Given the description of an element on the screen output the (x, y) to click on. 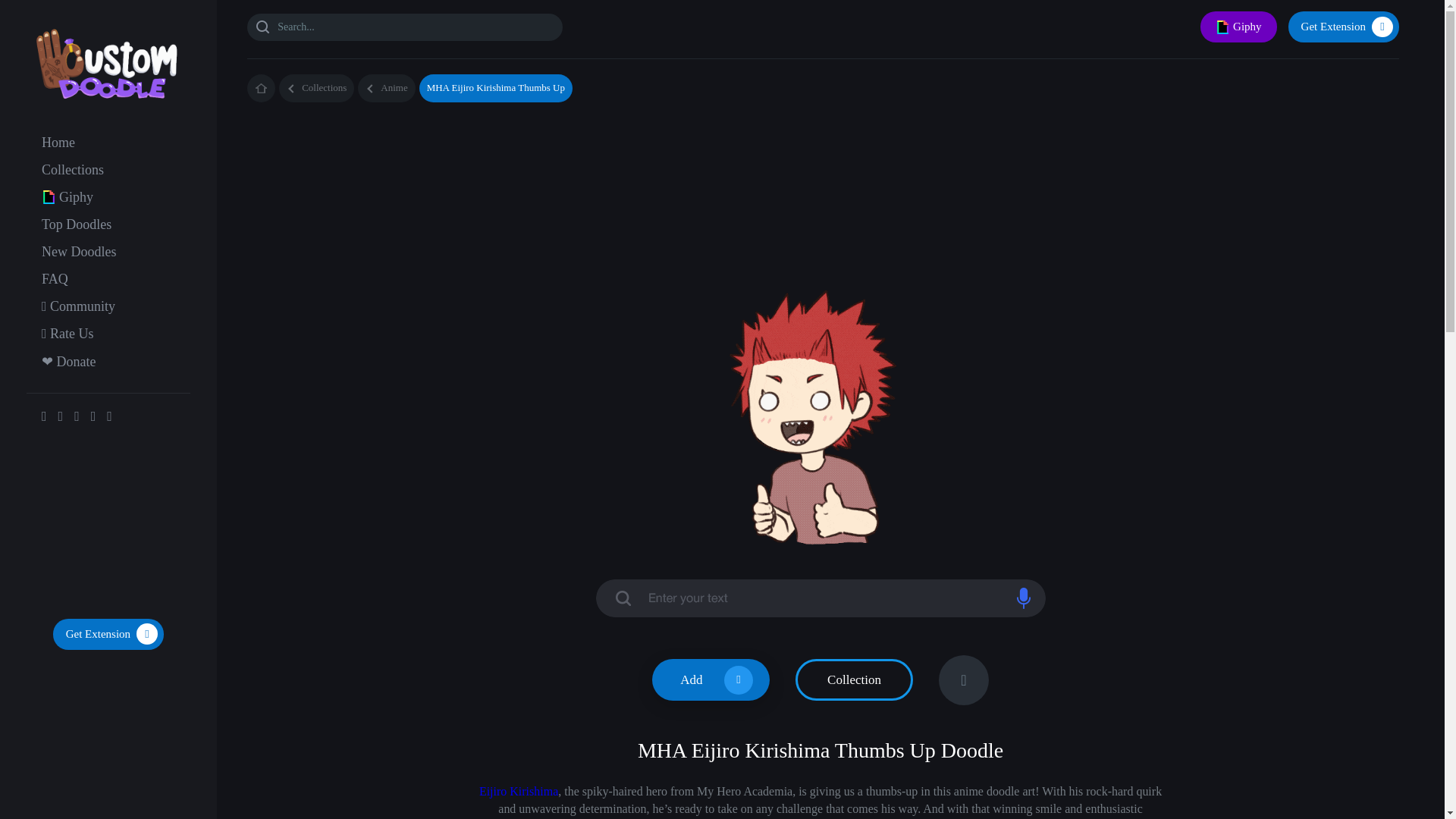
Giphy (76, 197)
New Doodles (79, 251)
Collections (316, 88)
Get Extension (1343, 26)
Advertisement (830, 151)
Collections (72, 169)
Giphy (1237, 26)
Get Extension (107, 634)
Home (58, 142)
Top Doodles (77, 224)
FAQ (55, 278)
Advertisement (108, 524)
